Given the description of an element on the screen output the (x, y) to click on. 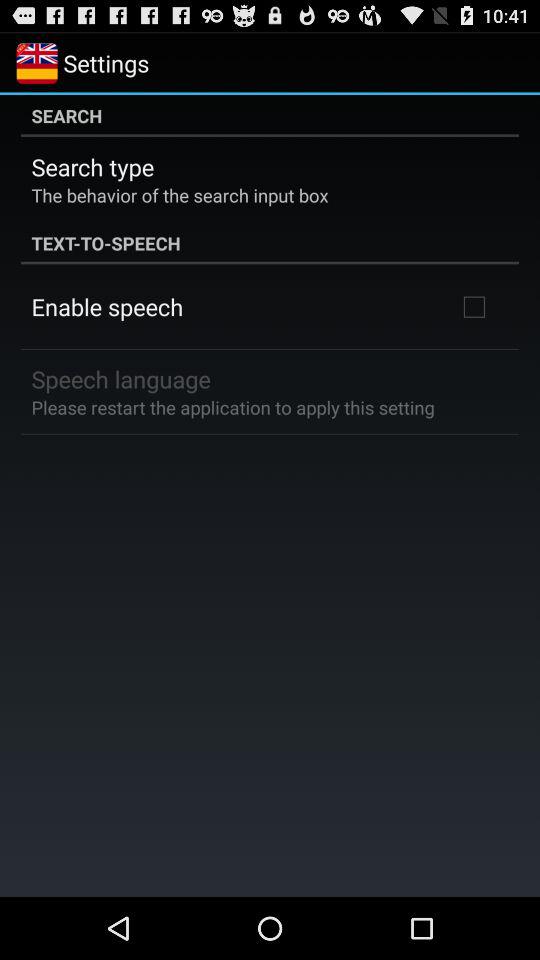
select app above the behavior of icon (92, 166)
